Given the description of an element on the screen output the (x, y) to click on. 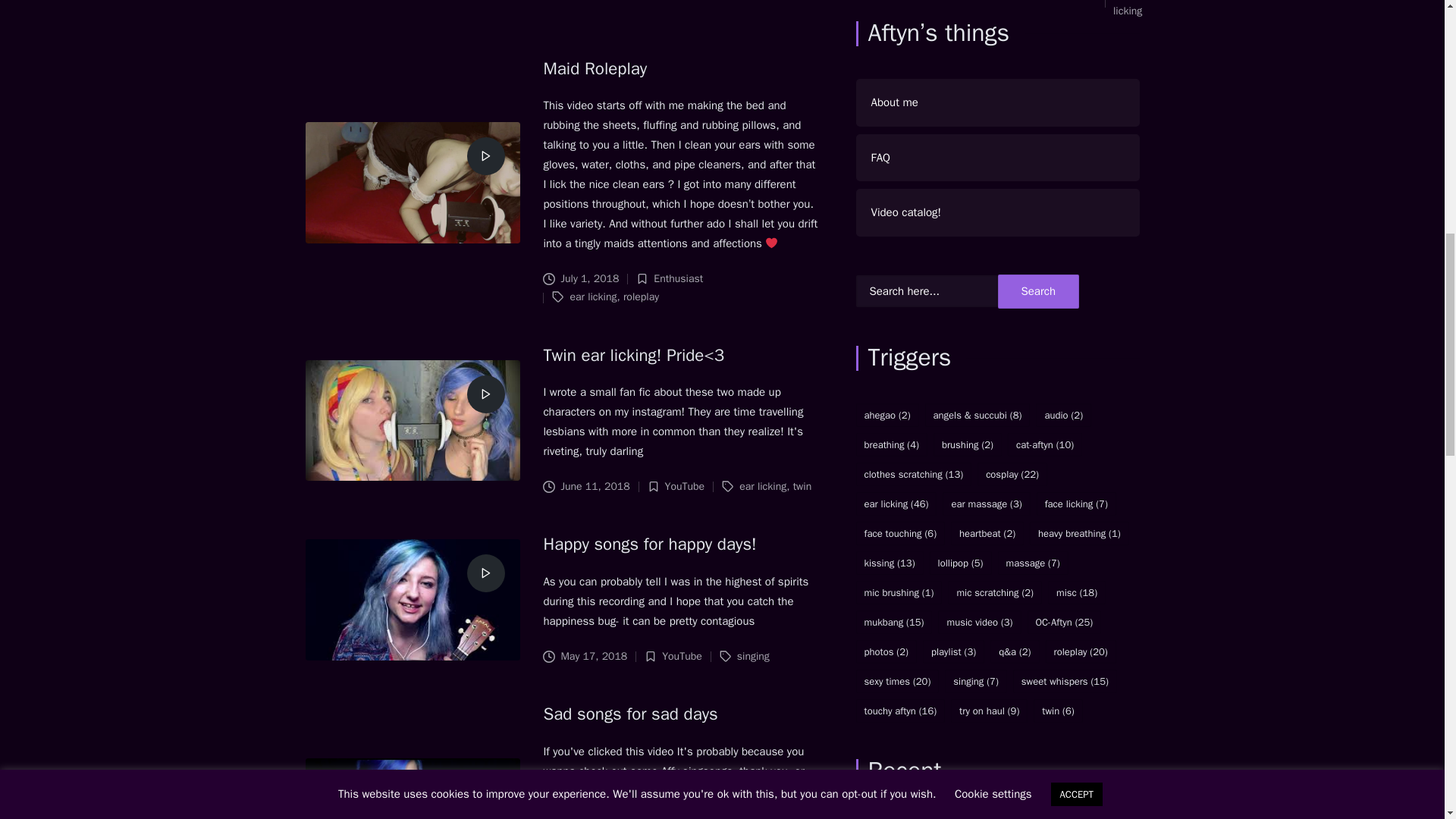
Happy songs for happy days! (649, 544)
Twin ear licking! Pride (633, 354)
twin (802, 486)
Maid Roleplay (594, 68)
Happy songs for happy days! (649, 544)
Enthusiast (678, 278)
Maid Roleplay (594, 68)
YouTube (684, 486)
singing (753, 656)
Sad songs for sad days (630, 713)
YouTube (681, 656)
Sad songs for sad days (630, 713)
roleplay (641, 296)
ear licking (592, 296)
ear licking (1129, 8)
